Given the description of an element on the screen output the (x, y) to click on. 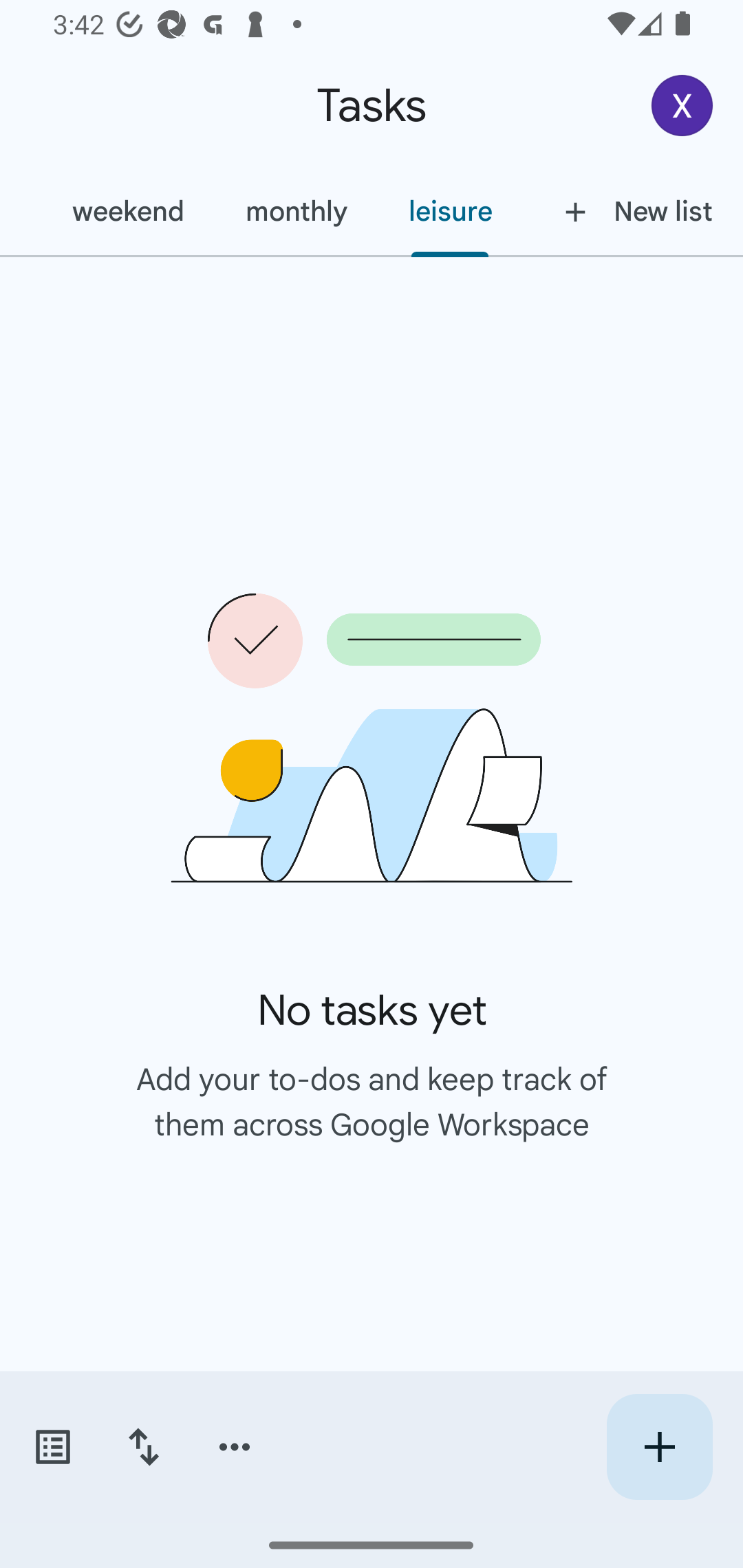
weekend (127, 211)
monthly (295, 211)
New list (632, 211)
Switch task lists (52, 1447)
Create new task (659, 1446)
Change sort order (143, 1446)
More options (234, 1446)
